Given the description of an element on the screen output the (x, y) to click on. 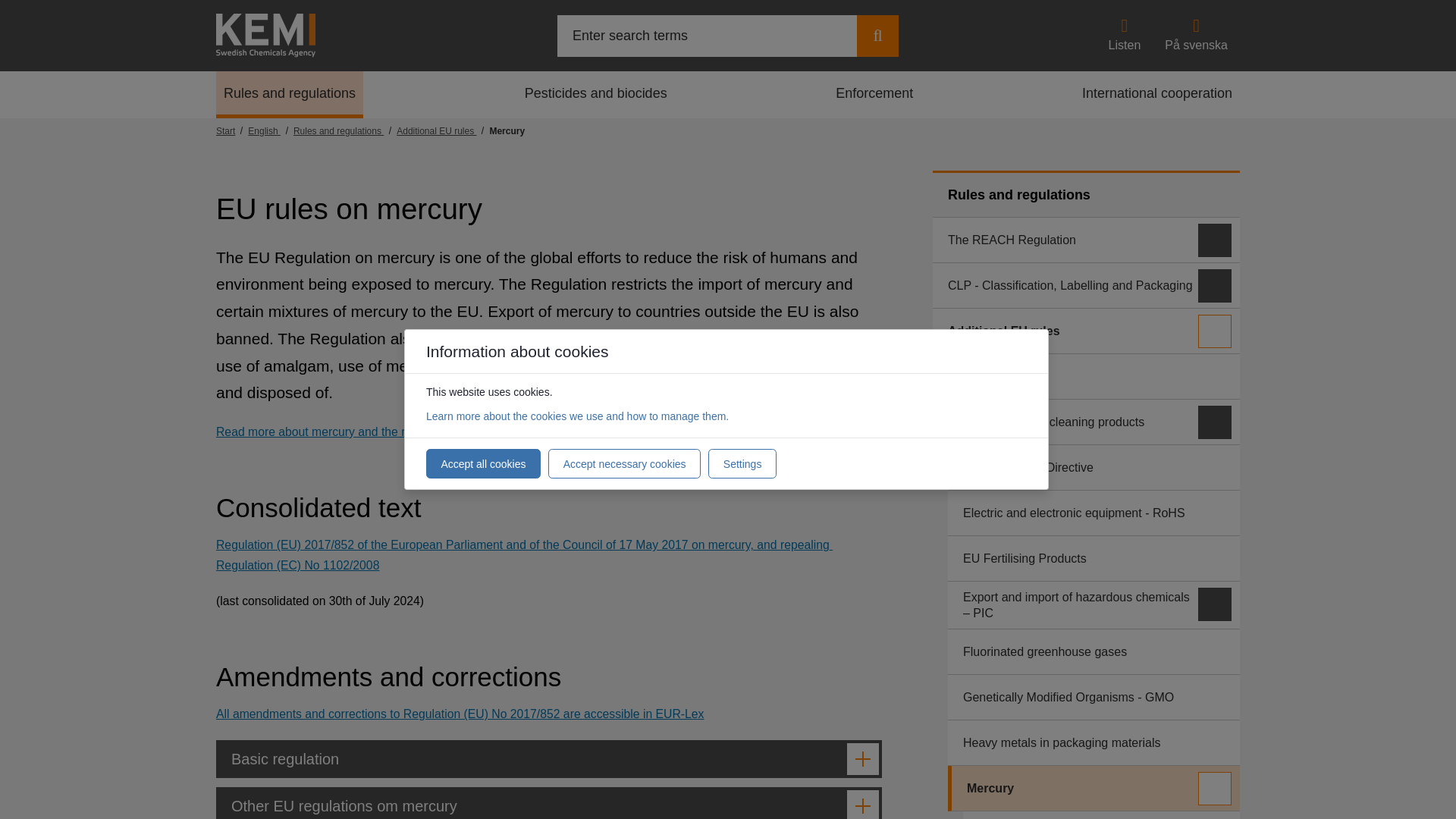
Startsida (231, 131)
Rules and regulations (345, 131)
English (270, 131)
Listen (1124, 35)
Rules and regulations (288, 94)
CLP - Classification, Labelling and Packaging (1086, 285)
Subpages for The REACH Regulation (1214, 240)
International cooperation (1157, 94)
Basic regulation (548, 759)
Enforcement (874, 94)
